Given the description of an element on the screen output the (x, y) to click on. 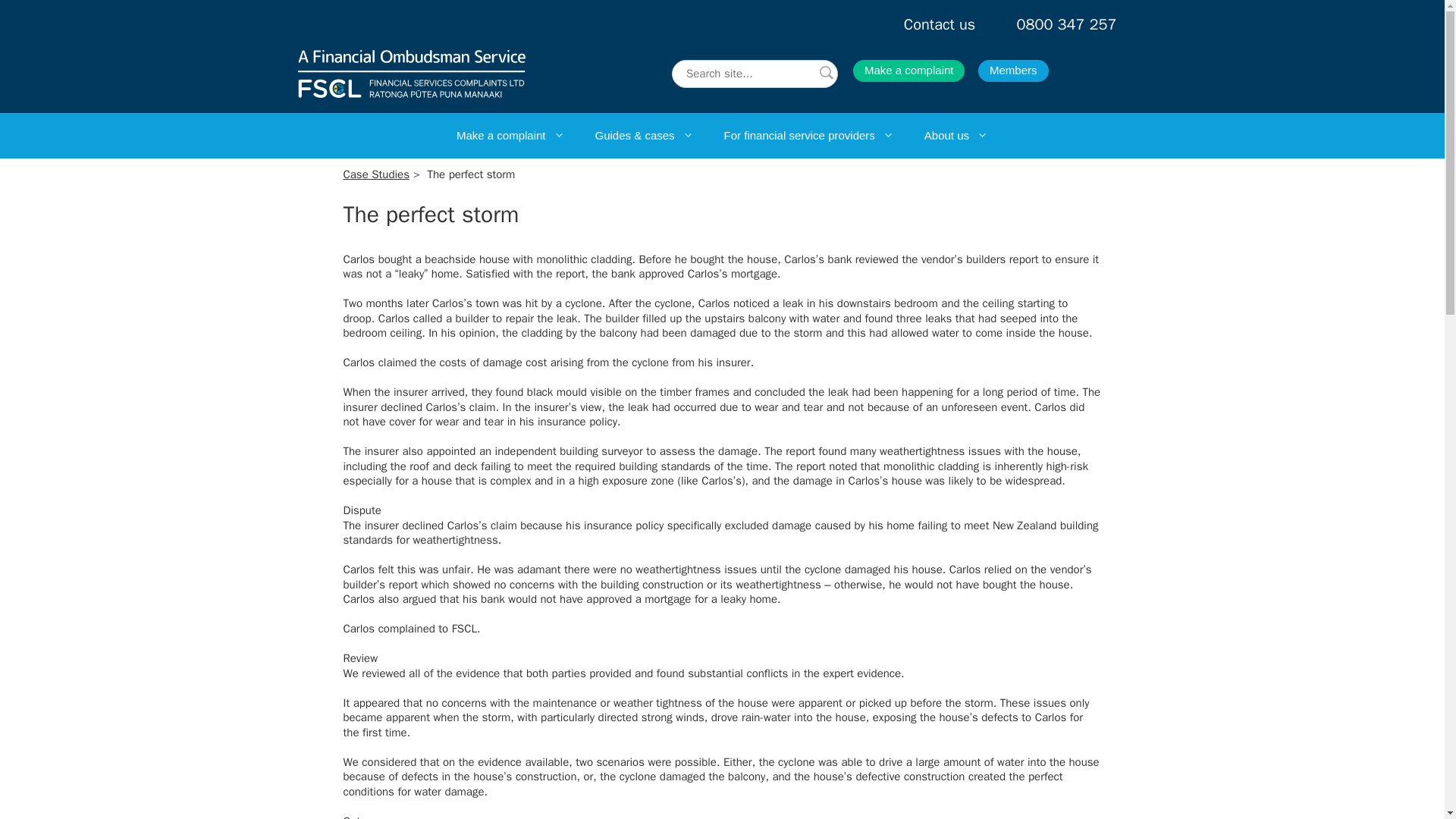
Make a complaint (510, 135)
Members (1013, 70)
0800 347 257 (1066, 24)
Case Studies (375, 173)
For financial service providers (808, 135)
Make a complaint (909, 70)
Contact us (939, 24)
About us (955, 135)
